Given the description of an element on the screen output the (x, y) to click on. 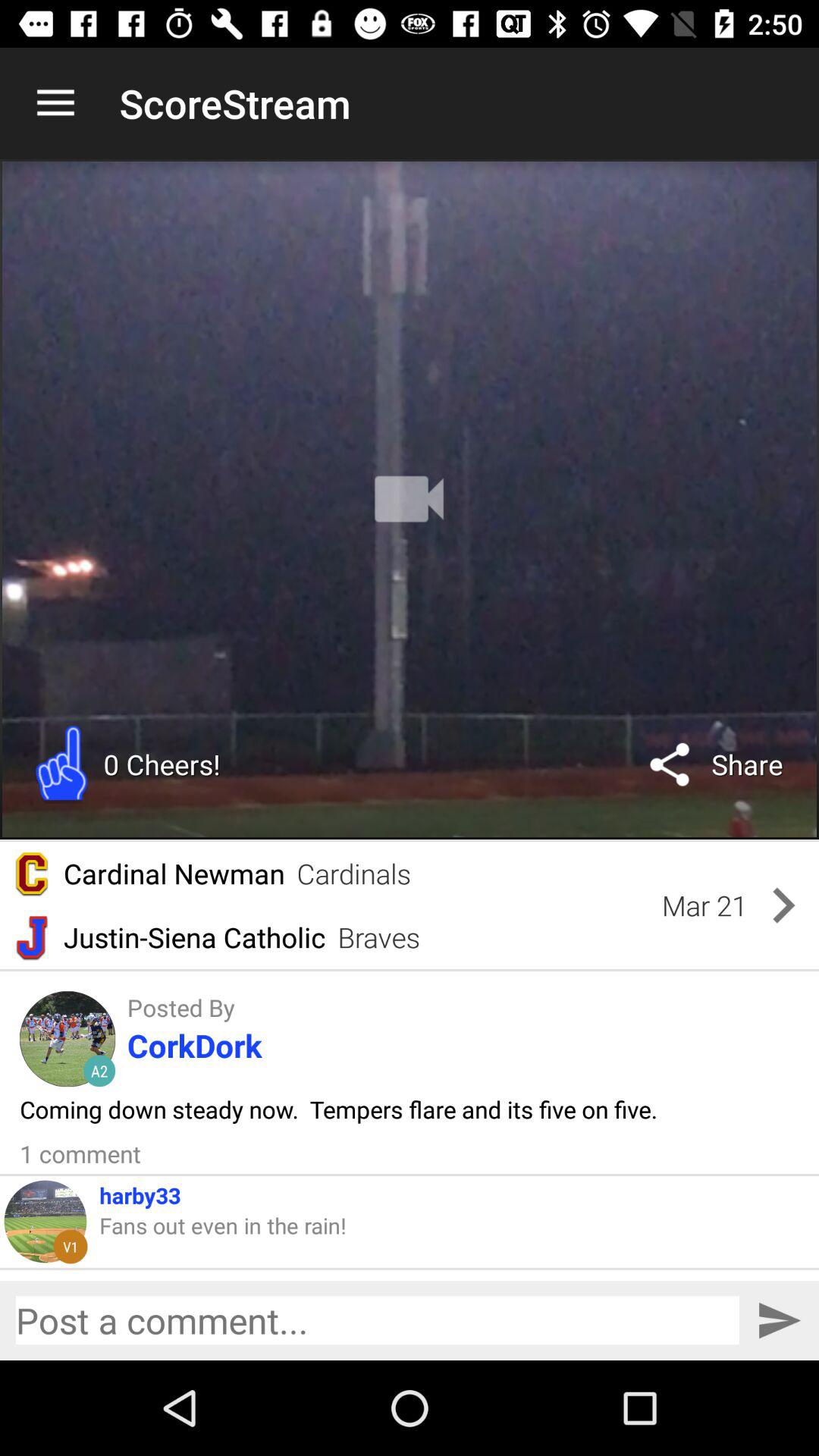
open the icon below the posted by item (194, 1044)
